Given the description of an element on the screen output the (x, y) to click on. 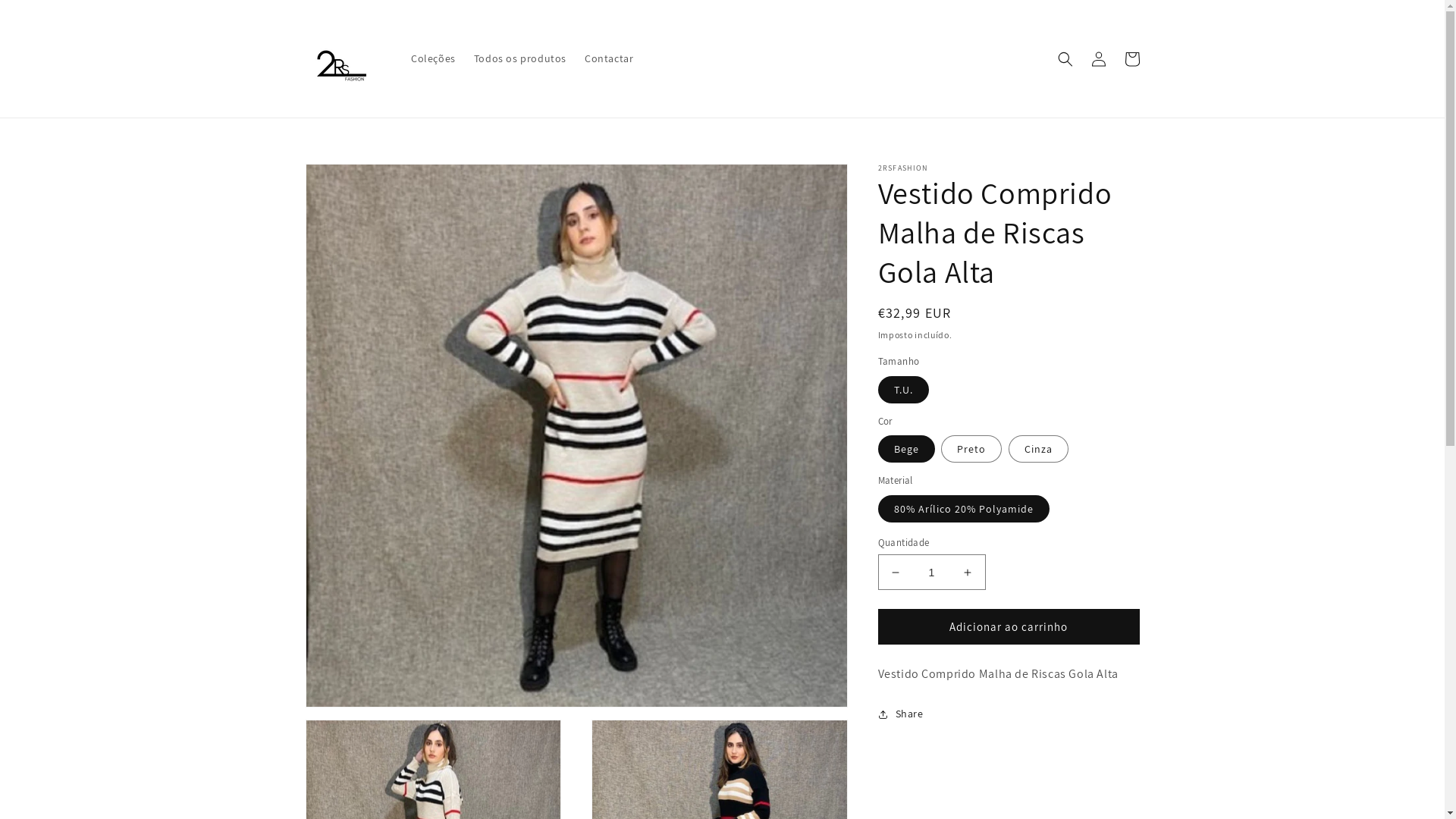
Contactar Element type: text (608, 58)
Carrinho Element type: text (1131, 58)
Adicionar ao carrinho Element type: text (1008, 626)
Todos os produtos Element type: text (519, 58)
